Given the description of an element on the screen output the (x, y) to click on. 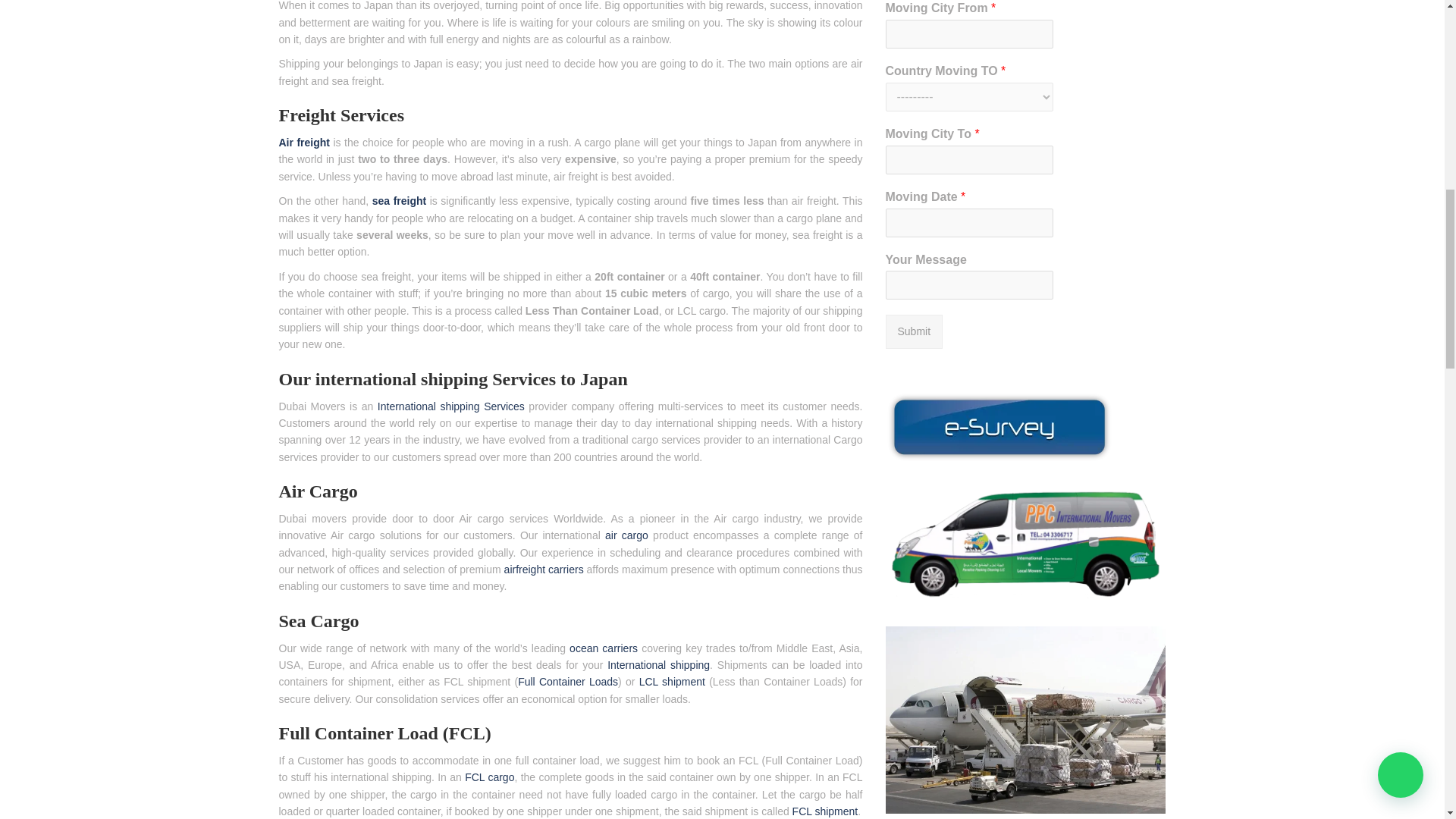
International shipping Services (450, 406)
LCL shipment (671, 681)
airfreight carriers (543, 569)
FCL cargo (488, 776)
air cargo (626, 535)
FCL shipment (825, 811)
Full Container Loads (567, 681)
Air freight (304, 142)
International shipping (658, 664)
ocean carriers (601, 648)
sea freight (399, 200)
